Given the description of an element on the screen output the (x, y) to click on. 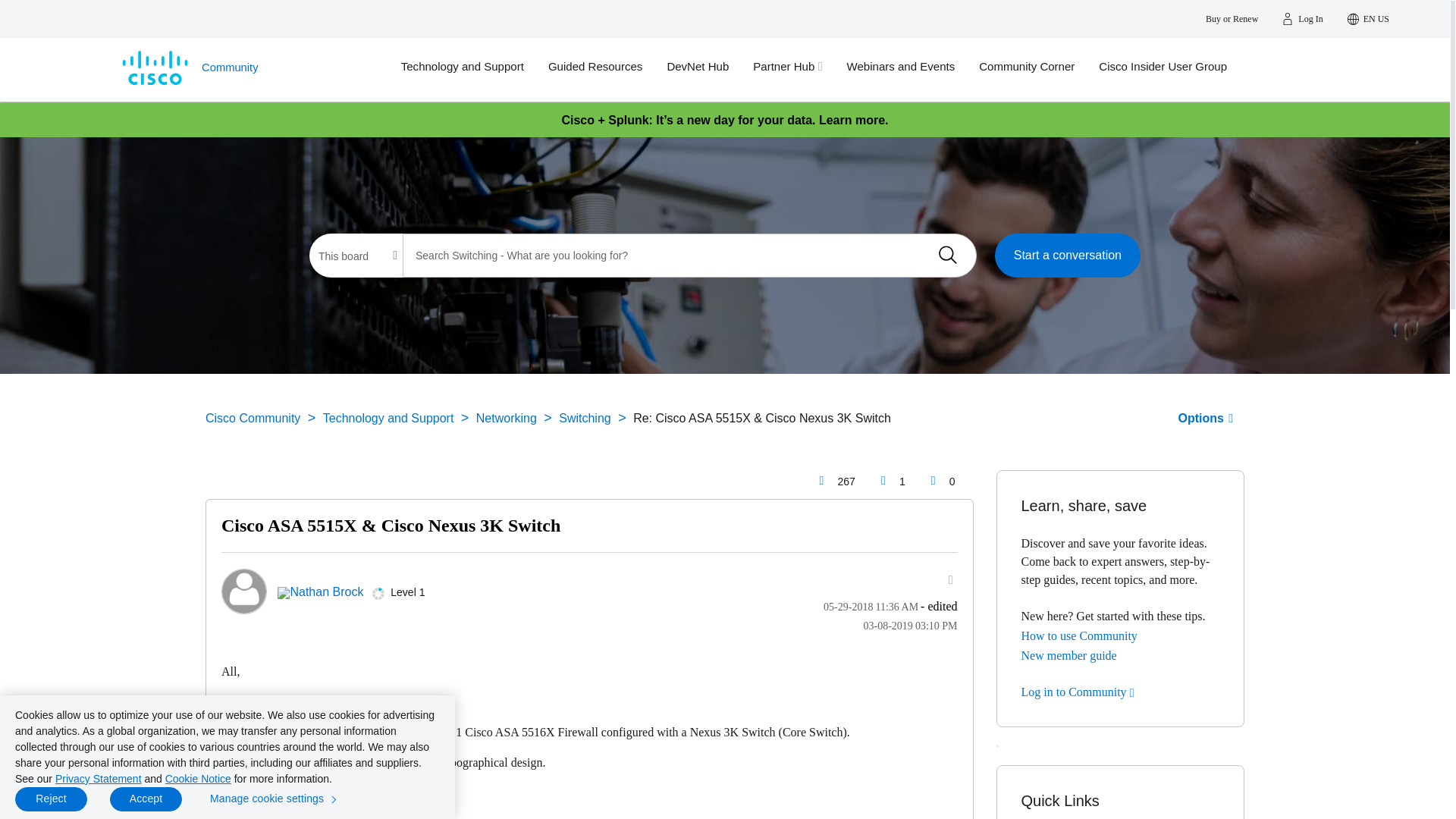
Search (947, 254)
Community (246, 69)
Search (947, 254)
Guided Resources (607, 66)
Level 1 (378, 593)
Show option menu (942, 579)
Search Granularity (357, 256)
Cisco Community (246, 69)
Tip: Phrases may provide better results (689, 255)
Technology and Support (474, 66)
Nathan Brock (243, 591)
DevNet Hub (709, 66)
Show option menu (1205, 418)
